Given the description of an element on the screen output the (x, y) to click on. 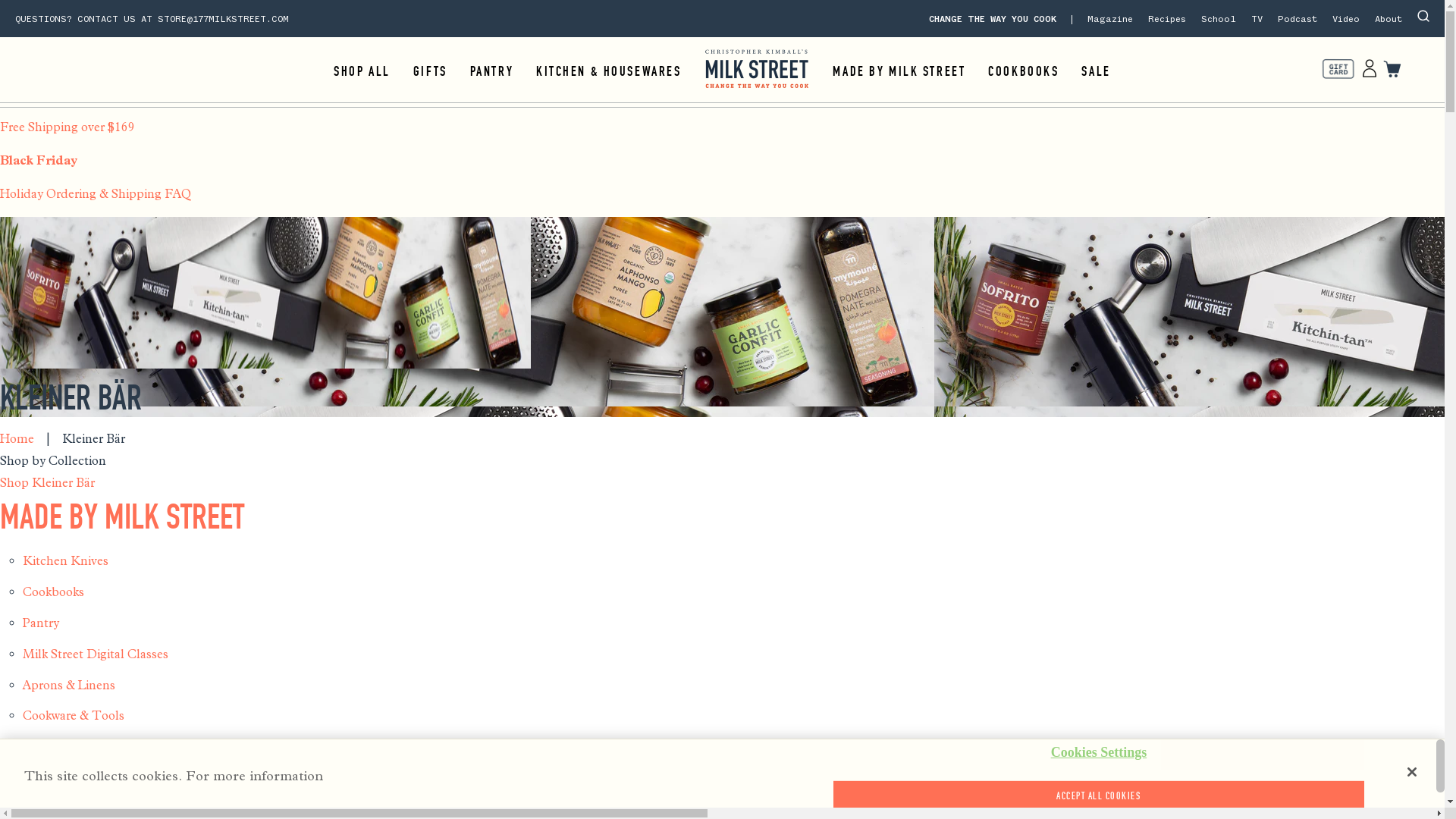
Black Friday Element type: text (722, 166)
GIFTS Element type: text (430, 70)
Milk Street Digital Classes Element type: text (95, 653)
Magazine Element type: text (1109, 19)
MADE BY MILK STREET Element type: text (898, 70)
Holiday Ordering & Shipping FAQ Element type: text (722, 199)
Cookware & Tools Element type: text (73, 715)
Free Shipping over $169 Element type: text (722, 133)
Pantry Element type: text (40, 622)
School Element type: text (1218, 19)
Video Element type: text (1345, 19)
Kitchen Knives Element type: text (65, 560)
Cookbooks Element type: text (53, 591)
QUESTIONS? CONTACT US AT STORE@177MILKSTREET.COM Element type: text (151, 19)
SHOP ALL Element type: text (361, 70)
ACCEPT ALL COOKIES Element type: text (1098, 796)
Home Element type: text (17, 438)
About Element type: text (1388, 19)
PANTRY Element type: text (491, 70)
MADE BY MILK STREET Element type: text (122, 516)
Exclusive to Milk Street Element type: text (87, 746)
TV Element type: text (1256, 19)
Podcast Element type: text (1297, 19)
Aprons & Linens Element type: text (68, 684)
PANTRY Element type: text (40, 795)
KITCHEN & HOUSEWARES Element type: text (608, 70)
Recipes Element type: text (1167, 19)
SALE Element type: text (1095, 70)
CHANGE THE WAY YOU COOK Element type: text (1000, 19)
COOKBOOKS Element type: text (1023, 70)
Cookies Settings Element type: text (1098, 752)
